Given the description of an element on the screen output the (x, y) to click on. 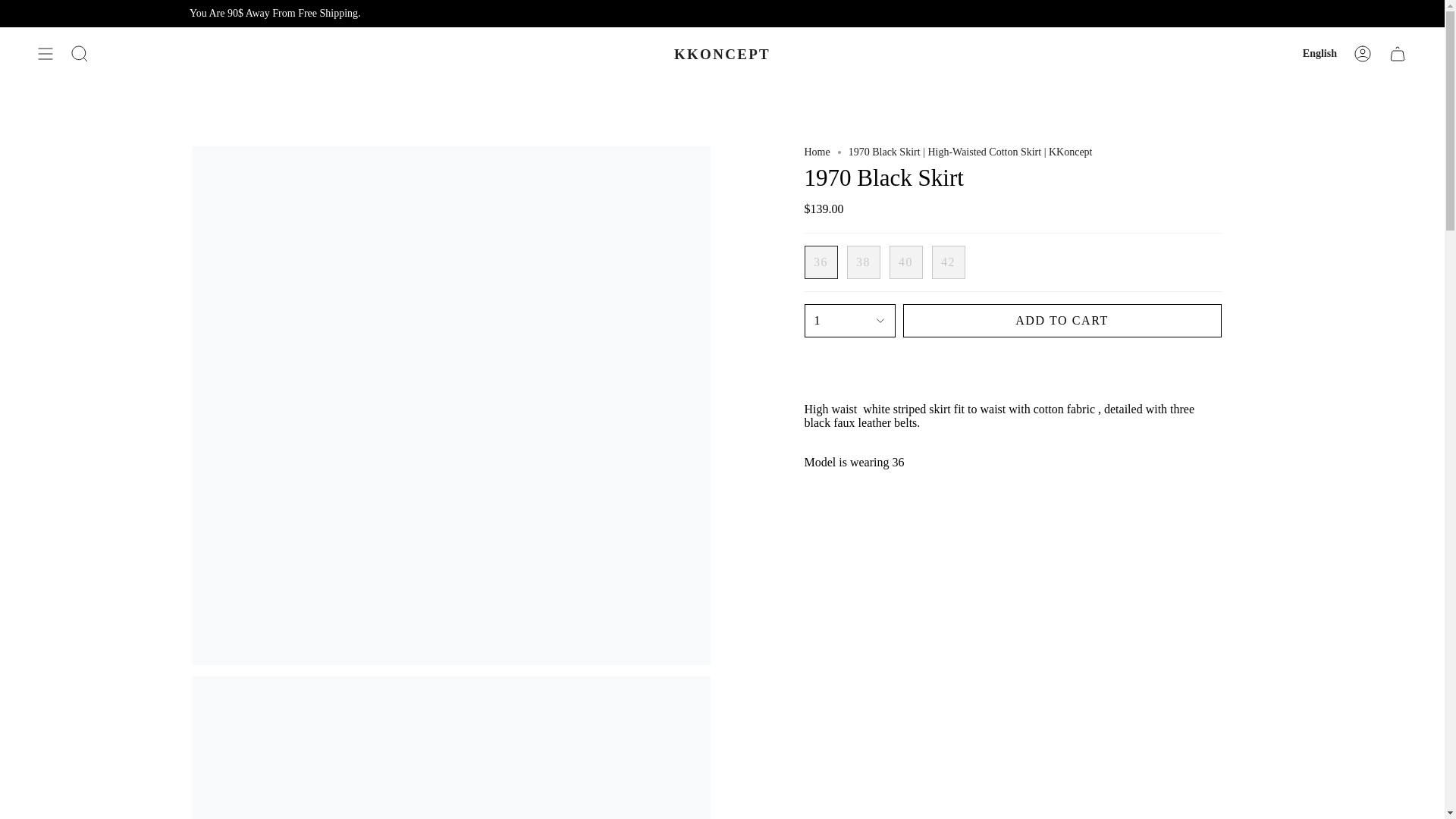
Home (816, 152)
English (1319, 54)
Search (79, 53)
Account (1362, 53)
KKONCEPT (722, 53)
Cart (1397, 53)
1 (849, 320)
